Given the description of an element on the screen output the (x, y) to click on. 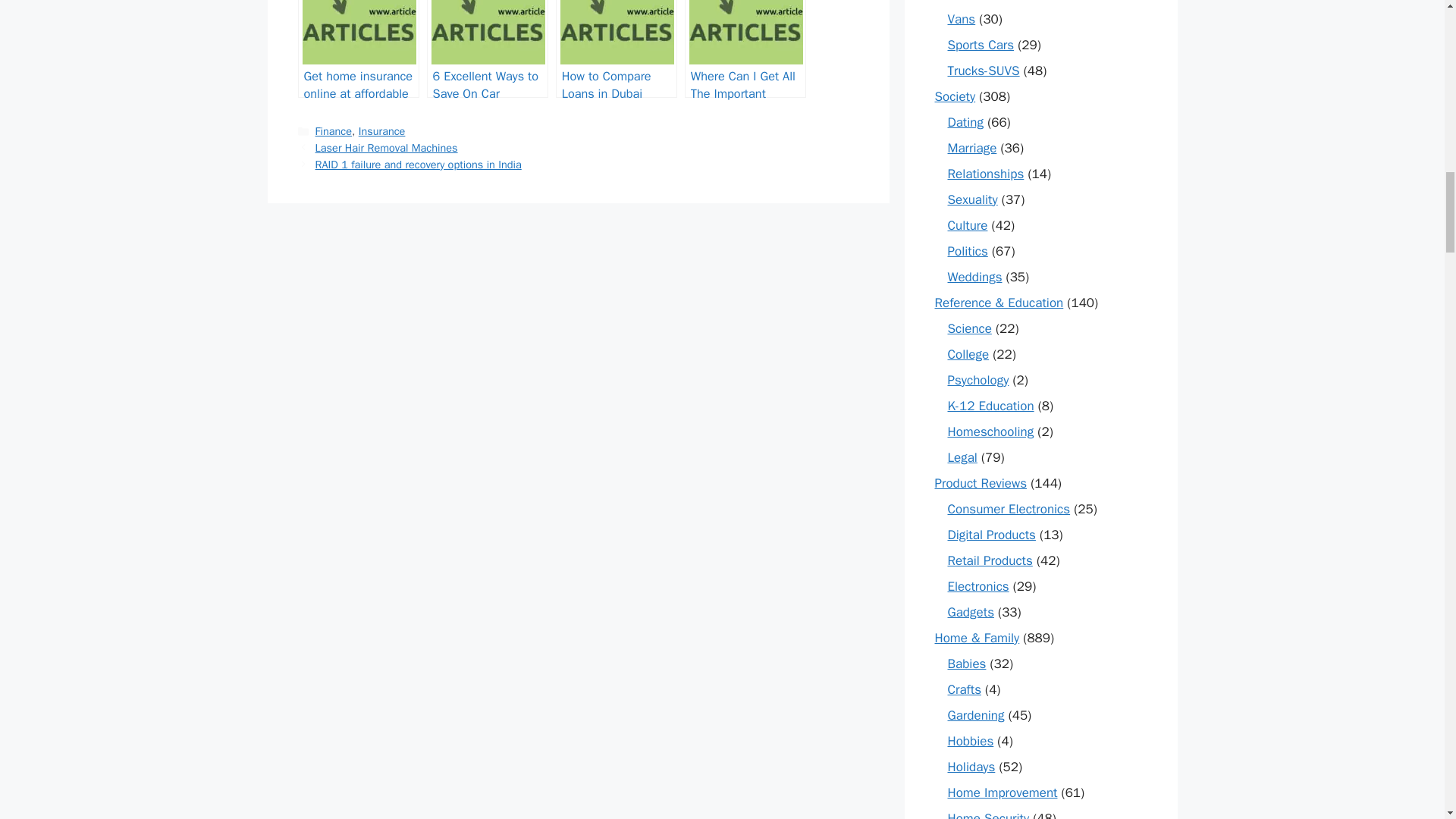
How to Compare Loans in Dubai (616, 48)
6 Excellent Ways to Save On Car Insurance (487, 48)
How to Compare Loans in Dubai (616, 48)
RAID 1 failure and recovery options in India (418, 164)
Get home insurance online at affordable price today (358, 48)
6 Excellent Ways to Save On Car Insurance (487, 48)
Insurance (382, 131)
Get home insurance online at affordable price today (358, 48)
